Given the description of an element on the screen output the (x, y) to click on. 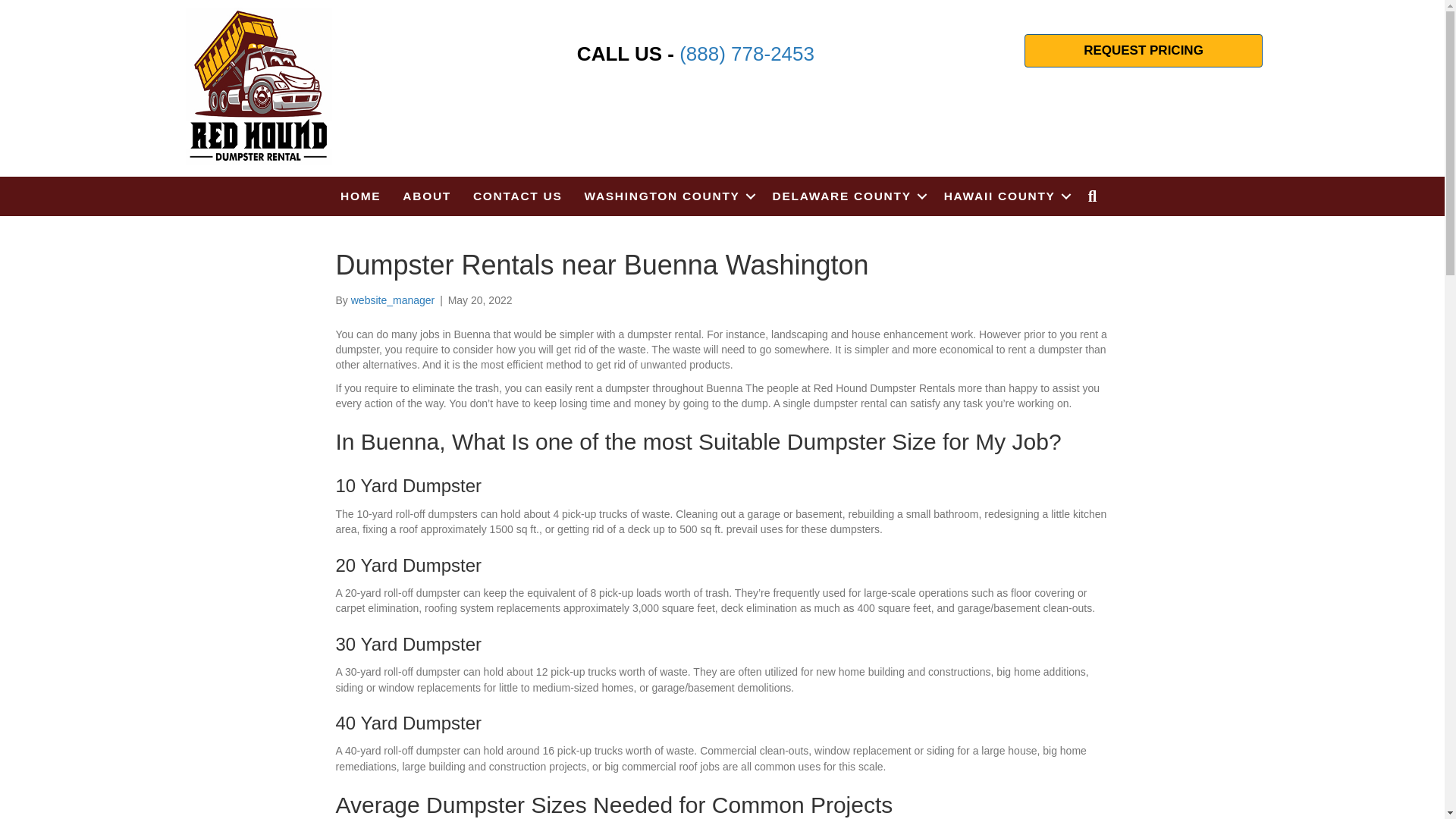
HAWAII COUNTY (1005, 196)
HOME (360, 196)
SEARCH (1096, 195)
redhounddumpster (258, 86)
ABOUT (426, 196)
CONTACT US (517, 196)
DELAWARE COUNTY (847, 196)
REQUEST PRICING (1144, 50)
WASHINGTON COUNTY (666, 196)
